Given the description of an element on the screen output the (x, y) to click on. 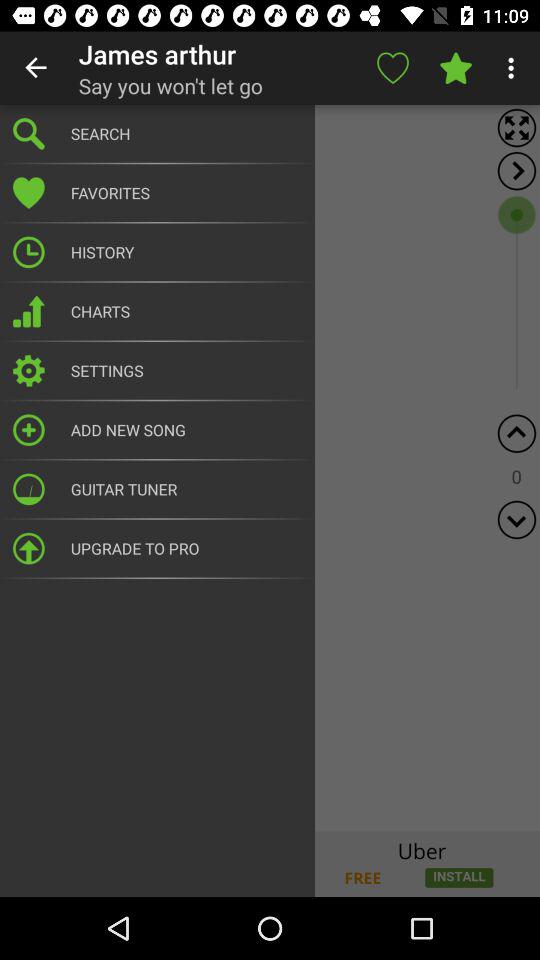
scroll down the sheet (516, 519)
